Given the description of an element on the screen output the (x, y) to click on. 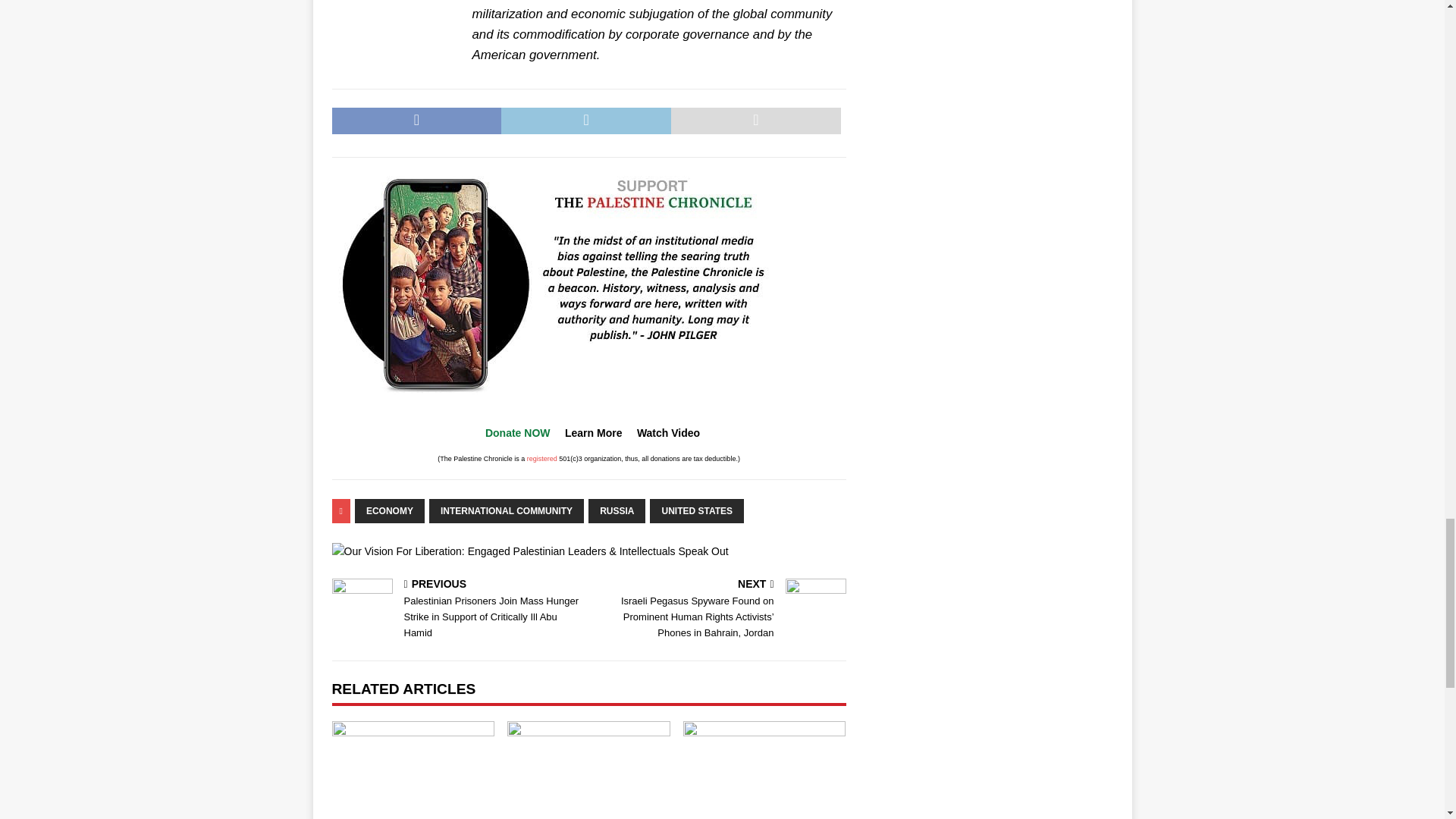
Watch Video (668, 432)
Donate NOW (517, 432)
Learn More (592, 432)
ECONOMY (390, 510)
registered (542, 458)
